Given the description of an element on the screen output the (x, y) to click on. 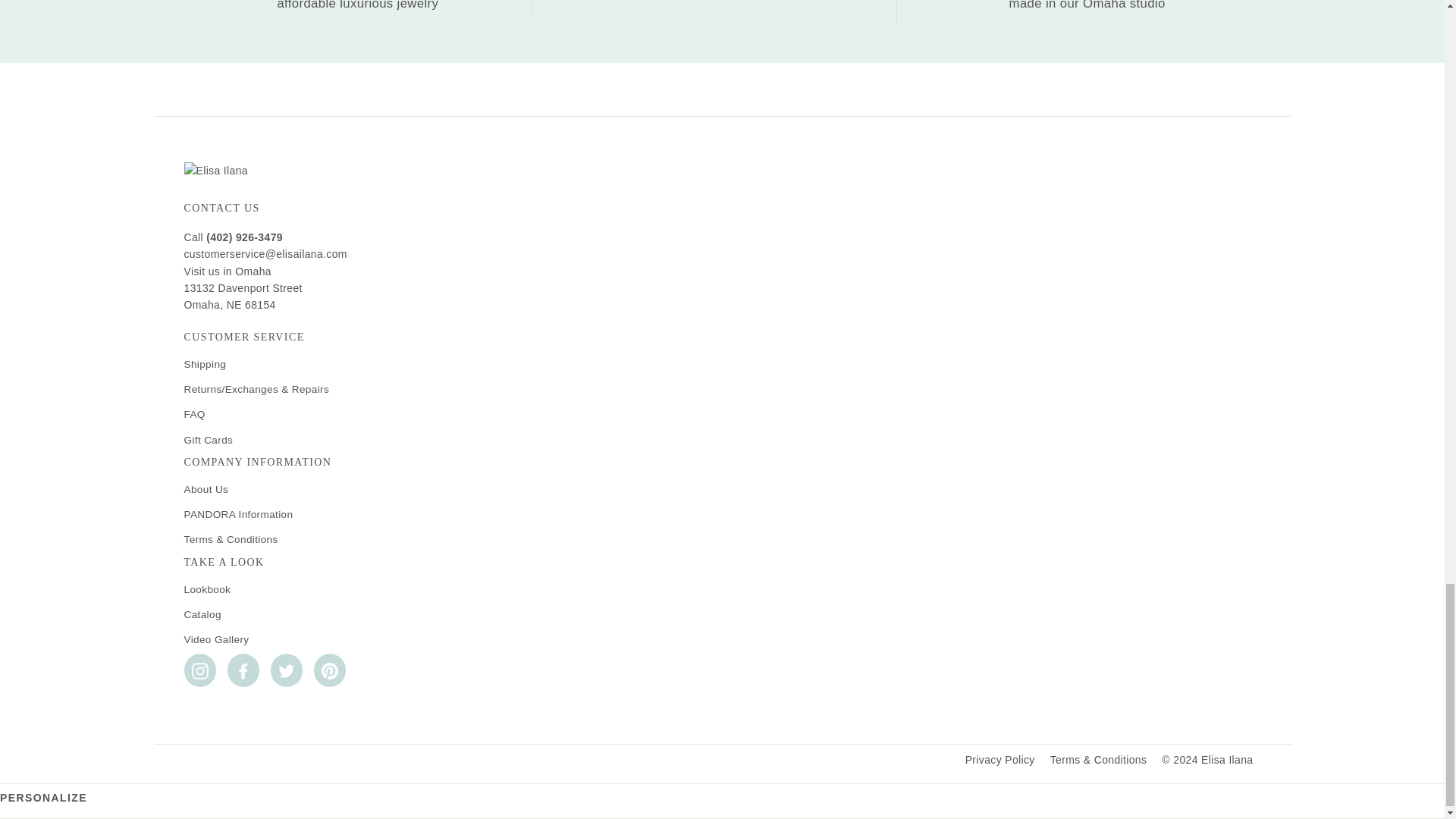
Elisa Ilana on Pinterest (330, 669)
Elisa Ilana on Instagram (199, 669)
Elisa Ilana on Facebook (243, 669)
Elisa Ilana on Twitter (285, 669)
